Given the description of an element on the screen output the (x, y) to click on. 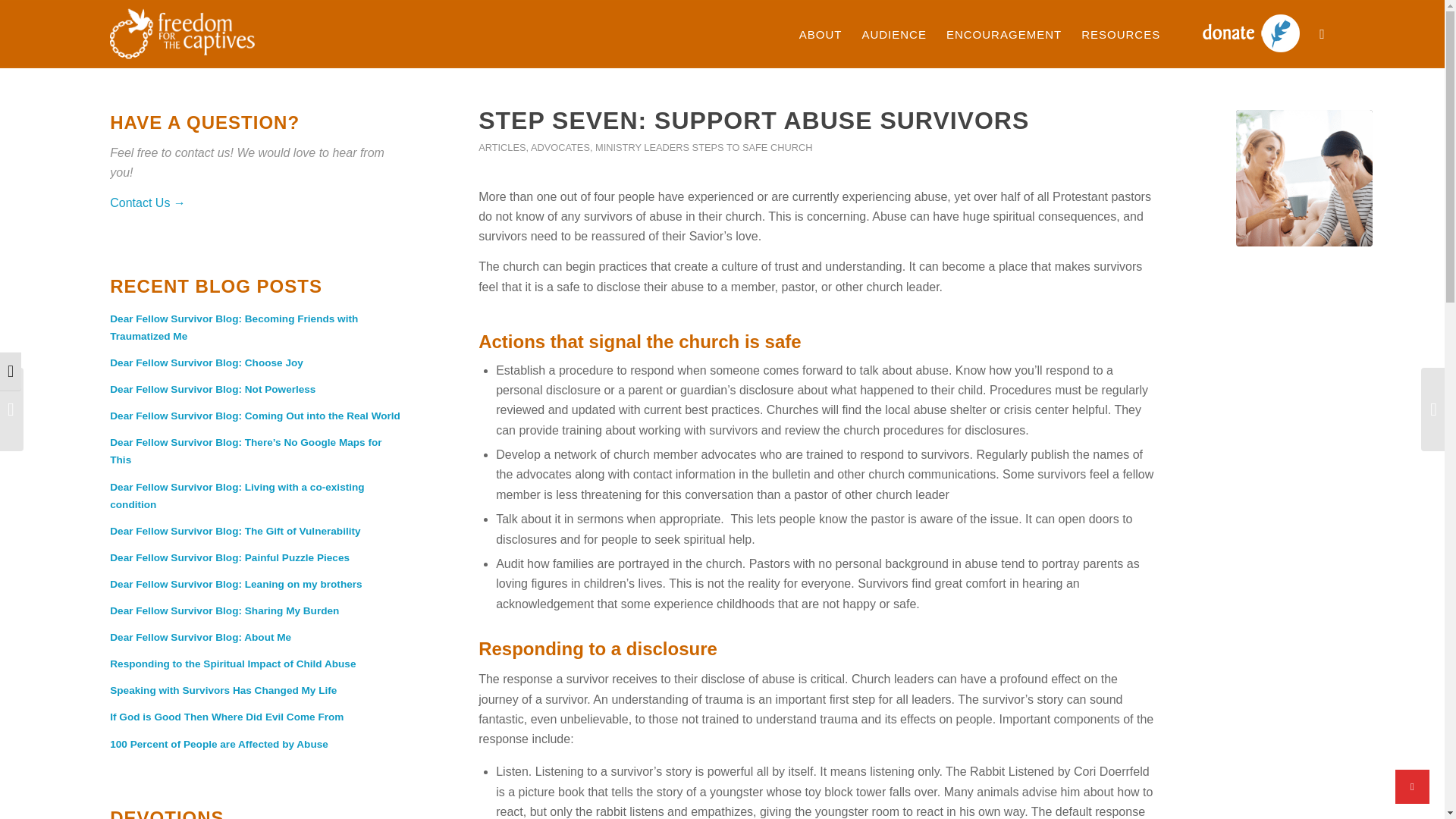
ABOUT (820, 33)
AUDIENCE (893, 33)
MINISTRY LEADERS (641, 147)
STEPS TO SAFE CHURCH (752, 147)
ADVOCATES (560, 147)
ENCOURAGEMENT (1003, 33)
ARTICLES (502, 147)
RESOURCES (1120, 33)
